Given the description of an element on the screen output the (x, y) to click on. 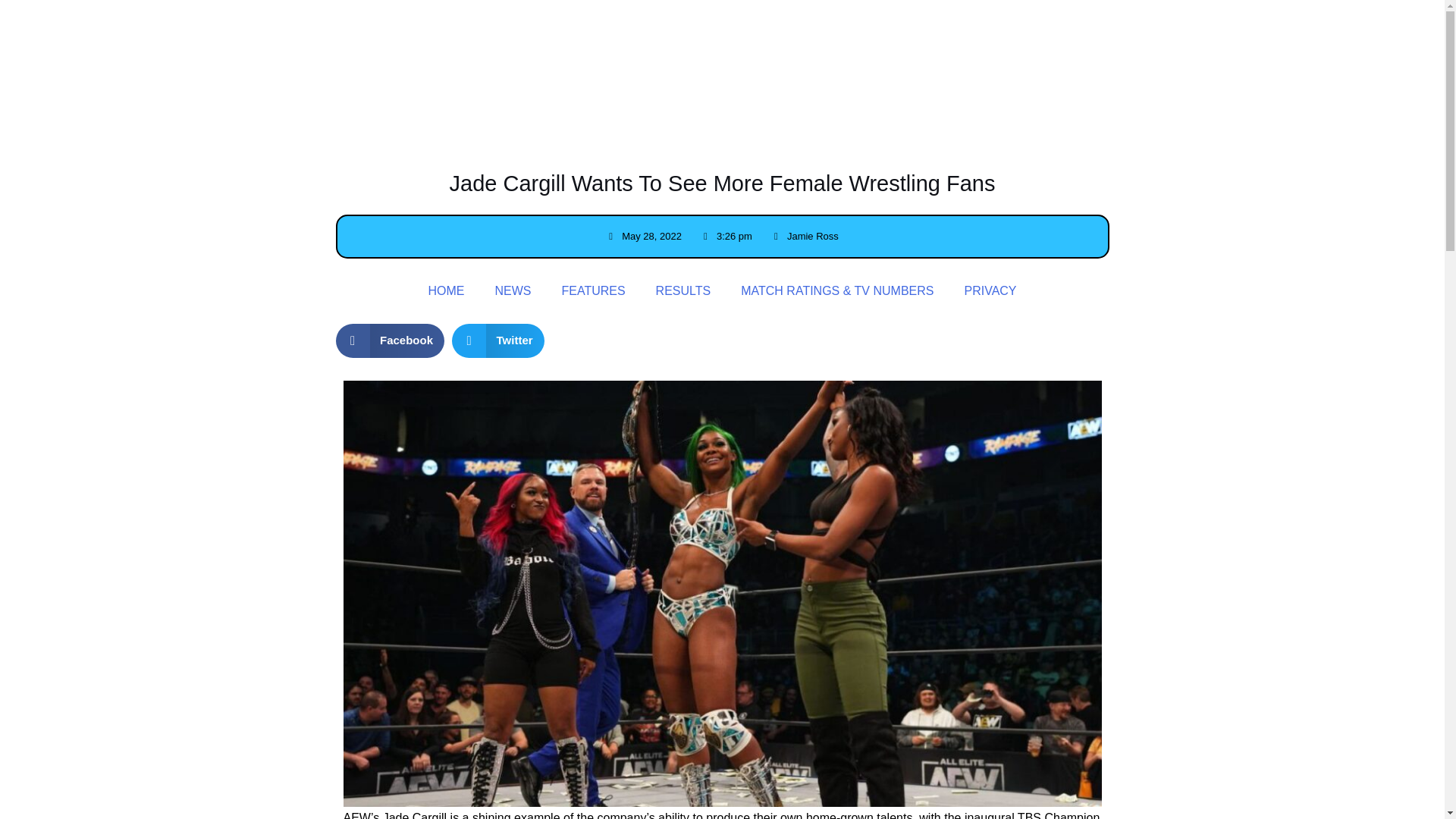
NEWS (923, 41)
PRIVACY (1380, 41)
HOME (858, 41)
NEWS (512, 290)
RESULTS (1080, 41)
May 28, 2022 (643, 236)
Jamie Ross (804, 236)
HOME (445, 290)
FEATURES (1000, 41)
